Given the description of an element on the screen output the (x, y) to click on. 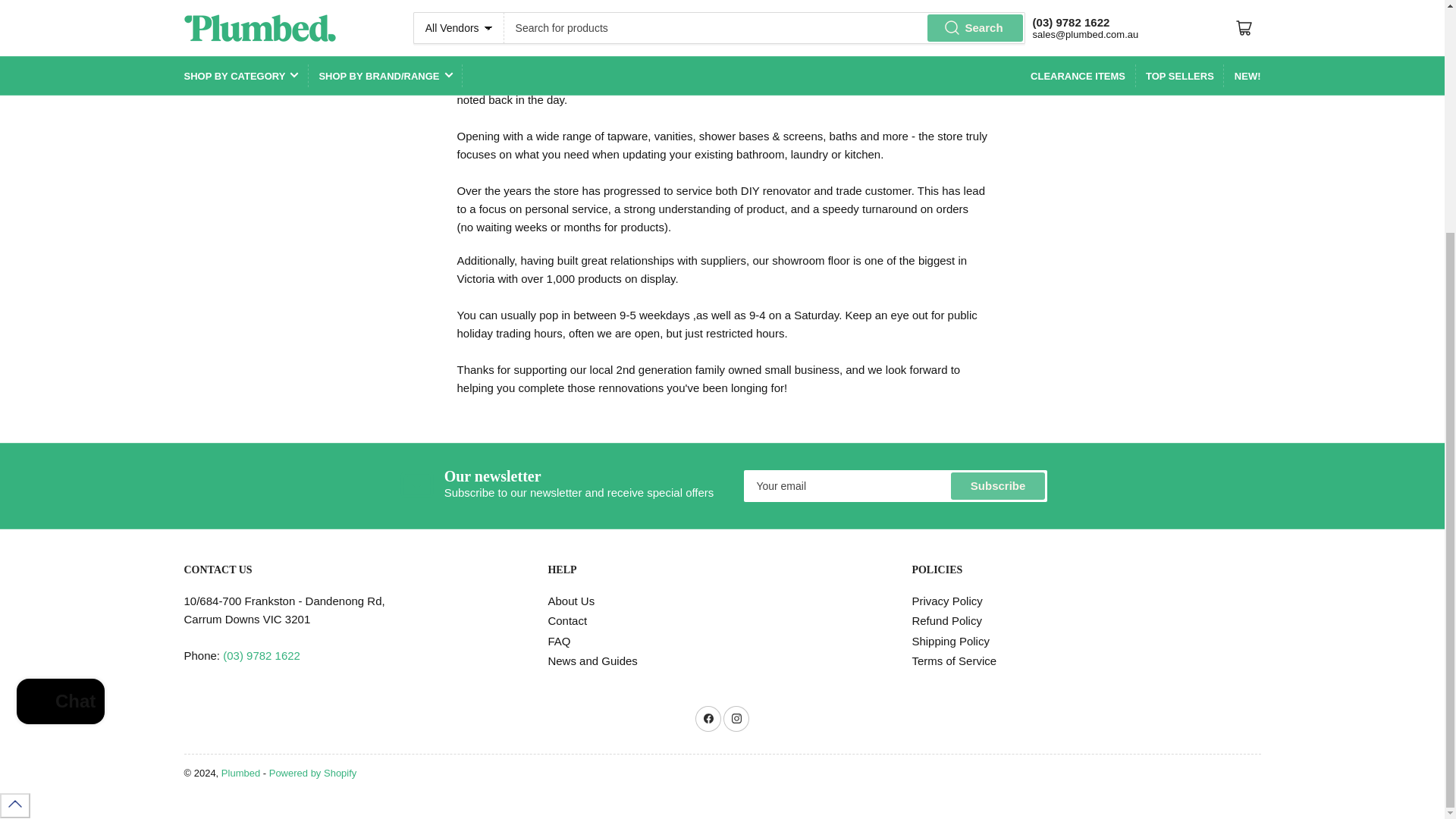
Shopify online store chat (60, 386)
